Given the description of an element on the screen output the (x, y) to click on. 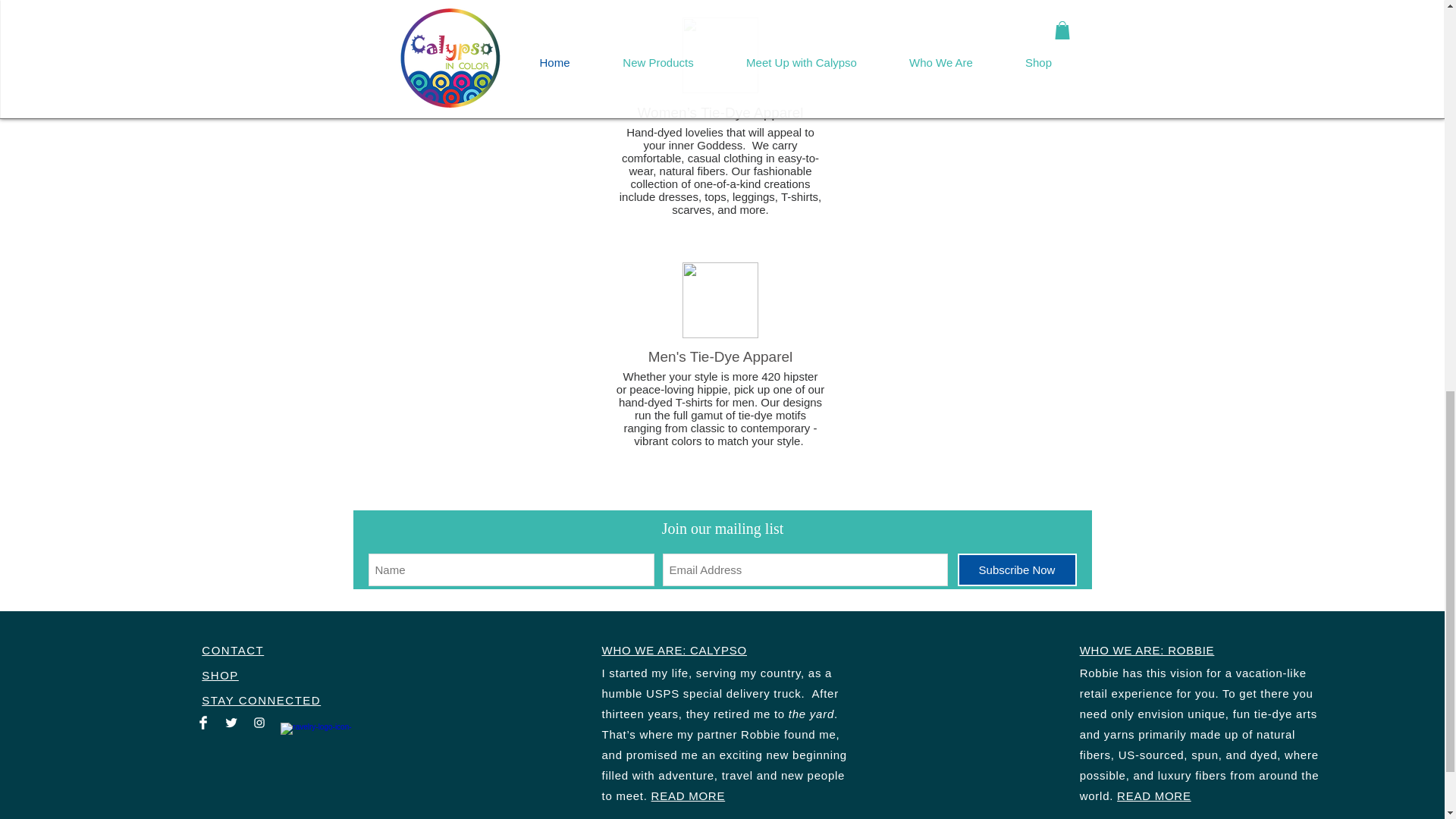
Subscribe Now (1015, 569)
mens-150.jpg (720, 300)
STAY CONNECTED (261, 699)
READ MORE (1153, 795)
WHO WE ARE: CALYPSO (673, 649)
womens-dress-150.jpg (720, 55)
WHO WE ARE: ROBBIE (1147, 649)
READ MORE (687, 795)
CONTACT (232, 649)
SHOP (220, 675)
